Given the description of an element on the screen output the (x, y) to click on. 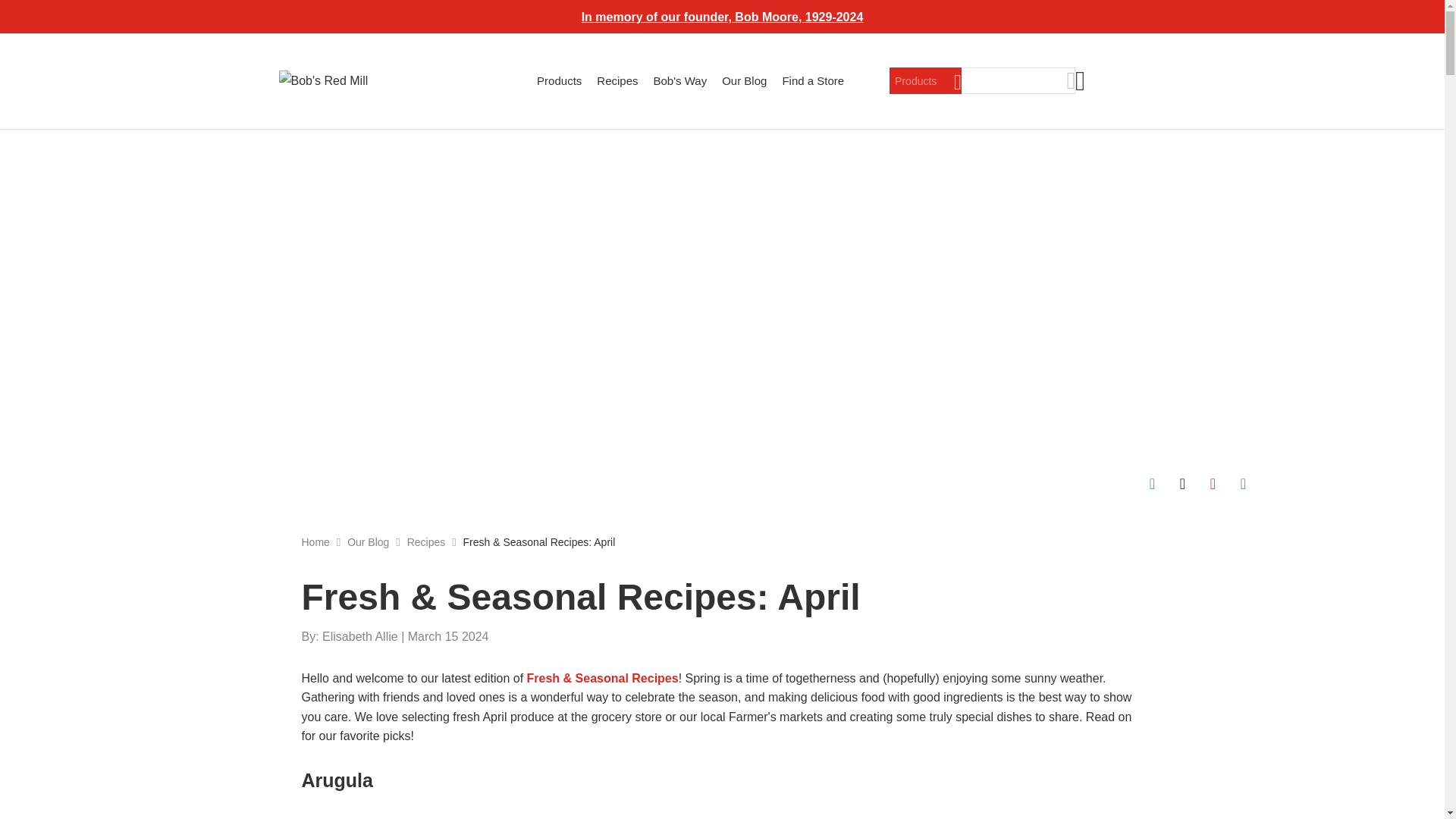
Bob's Way (680, 80)
Our Blog (744, 80)
In memory of our founder, Bob Moore, 1929-2024 (721, 16)
Find a Store (812, 80)
Products (558, 80)
Bob's Red Mill (327, 80)
Recipes (616, 80)
